Given the description of an element on the screen output the (x, y) to click on. 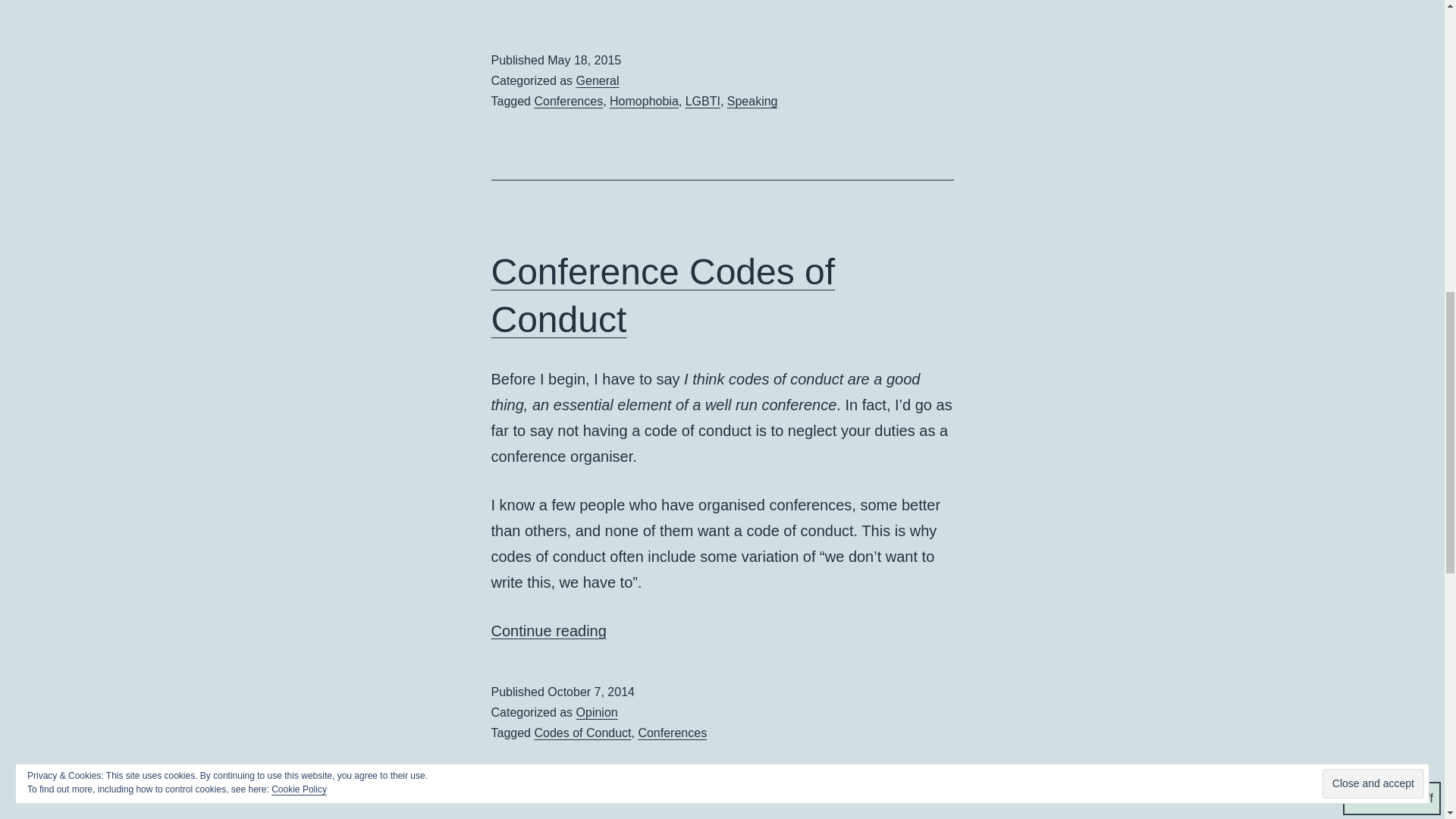
Speaking (751, 101)
General (549, 630)
LGBTI (598, 80)
Opinion (702, 101)
Conferences (596, 712)
Homophobia (568, 101)
Conference Codes of Conduct (644, 101)
Conferences (663, 295)
Codes of Conduct (671, 732)
